Given the description of an element on the screen output the (x, y) to click on. 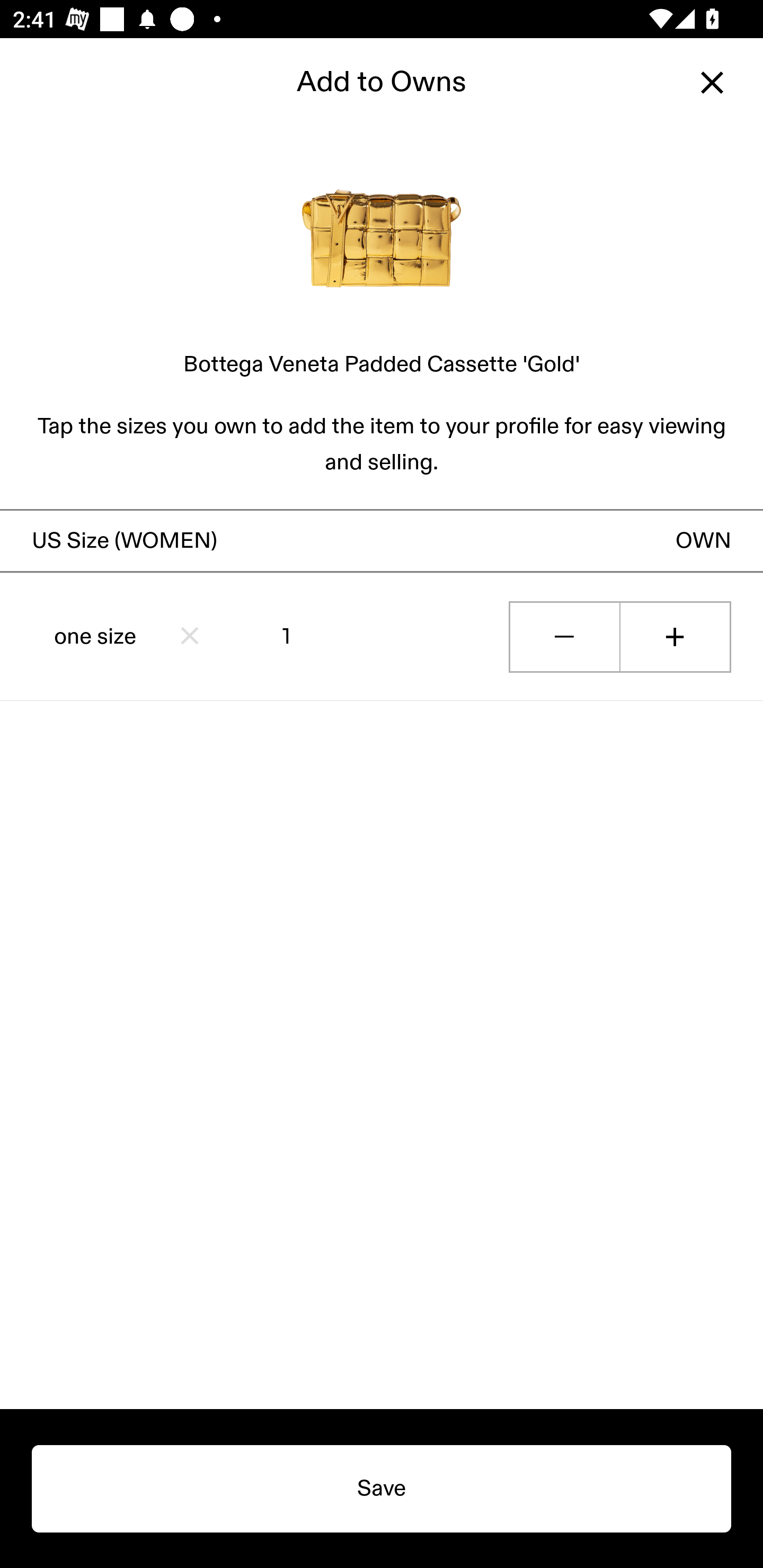
Save (381, 1488)
